Given the description of an element on the screen output the (x, y) to click on. 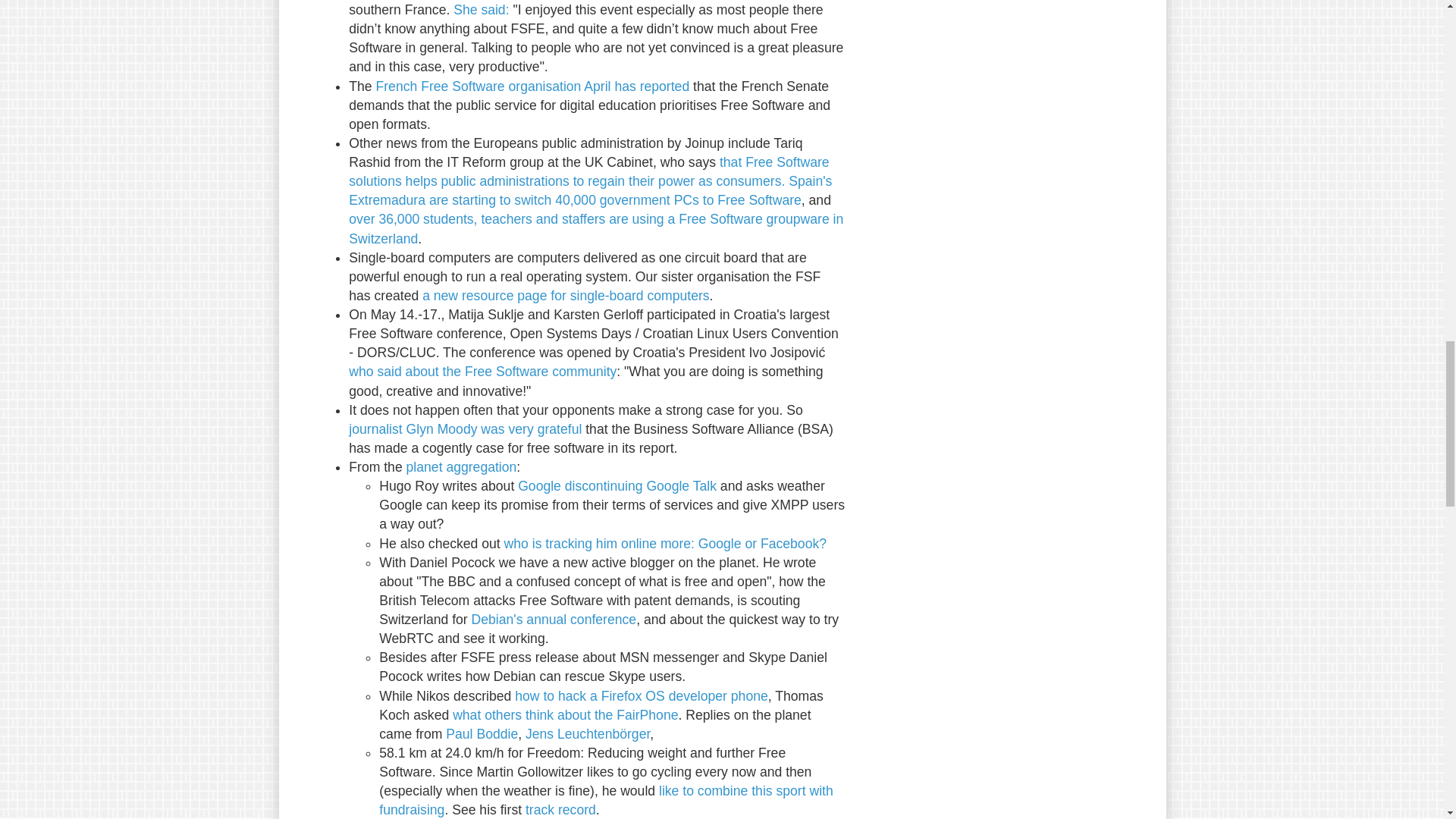
She said: (480, 9)
French Free Software organisation April has reported (532, 86)
